Given the description of an element on the screen output the (x, y) to click on. 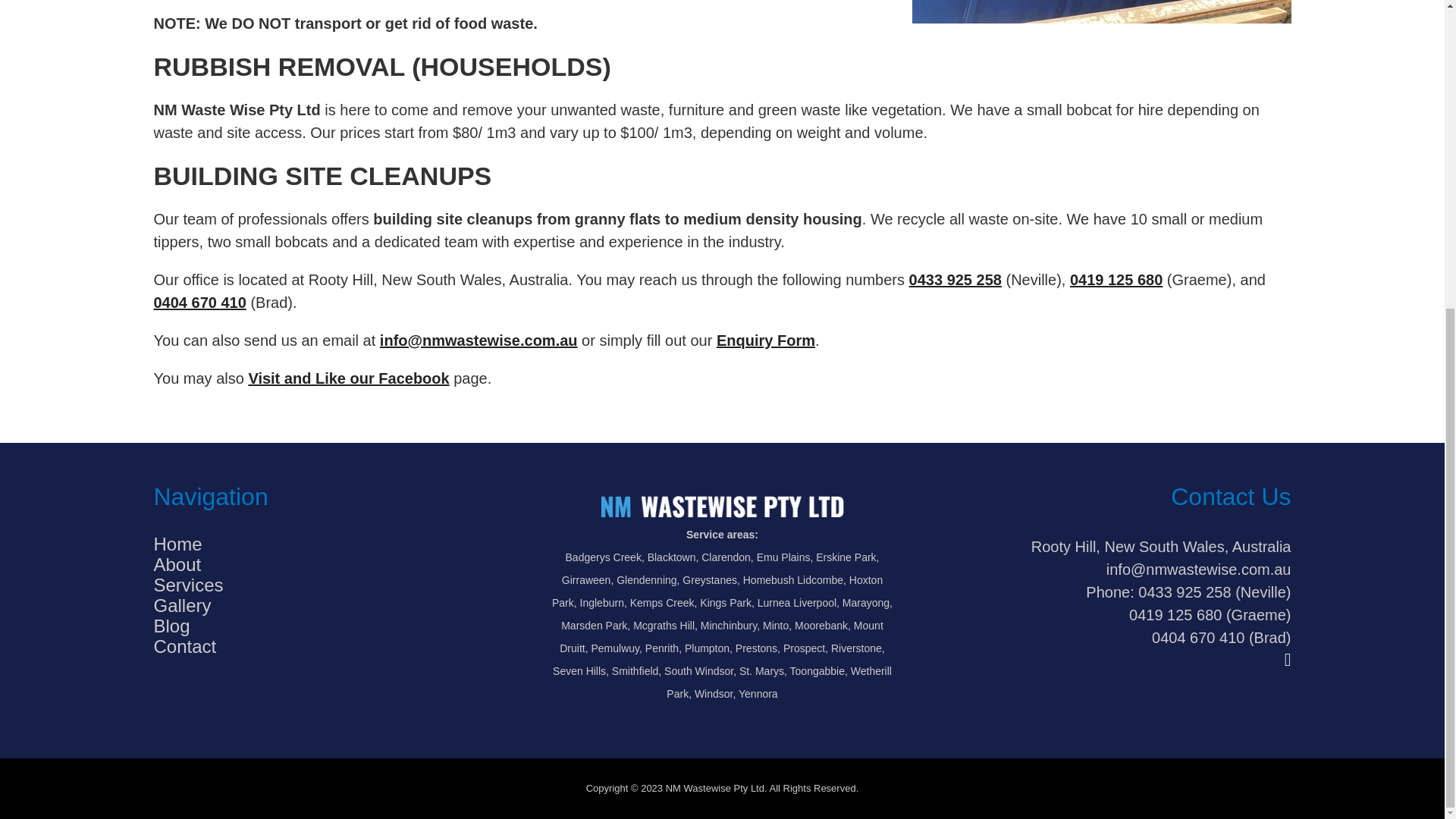
Services (187, 584)
Contact (183, 646)
About (176, 564)
Home (177, 543)
Visit and Like our Facebook (347, 378)
0419 125 680 (1115, 279)
0433 925 258 (954, 279)
Enquiry Form (765, 340)
Gallery (181, 605)
0404 670 410 (199, 302)
